Given the description of an element on the screen output the (x, y) to click on. 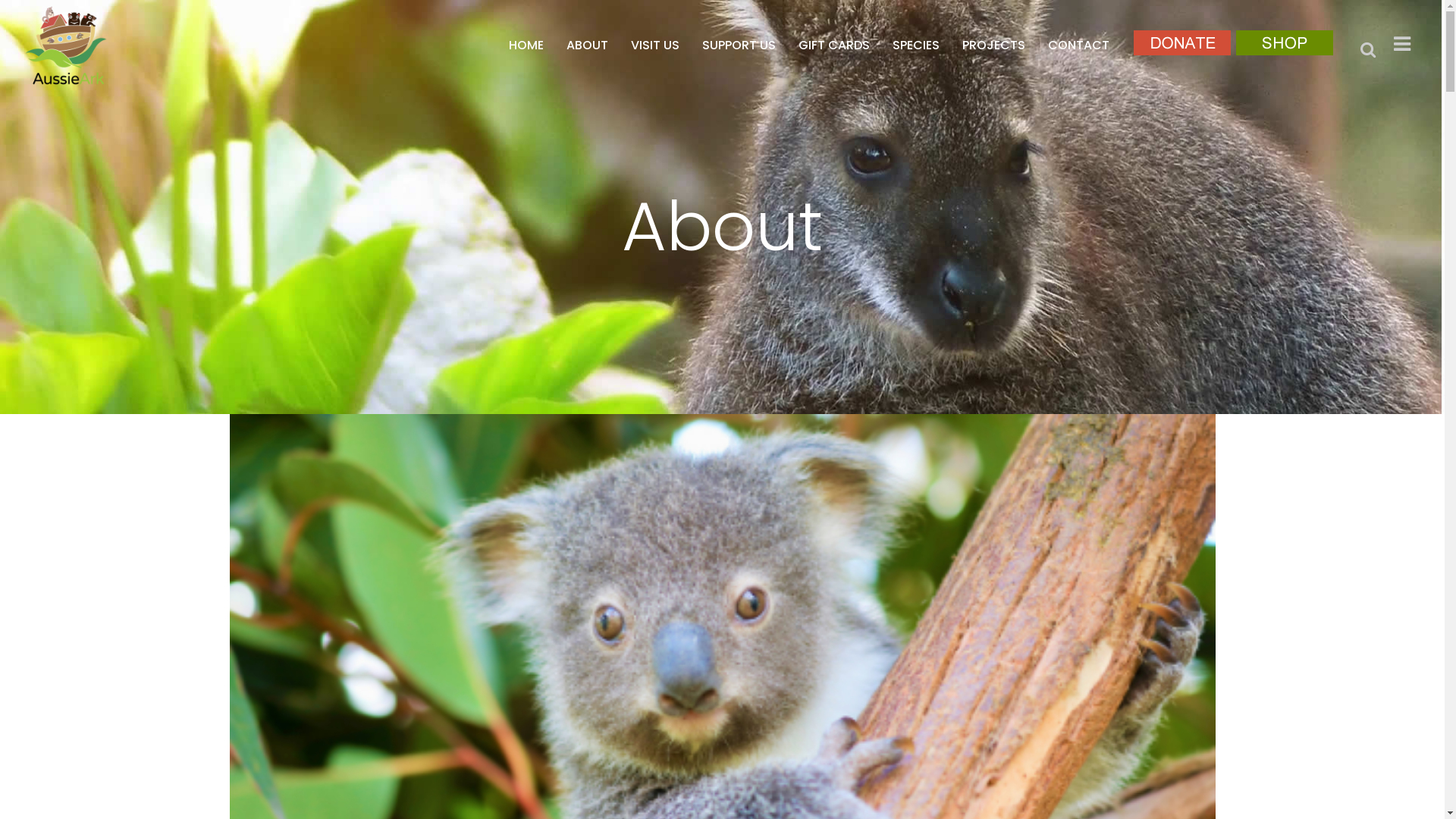
PROJECTS Element type: text (993, 45)
CONTACT Element type: text (1078, 45)
GIFT CARDS Element type: text (834, 45)
SUPPORT US Element type: text (738, 45)
ABOUT Element type: text (587, 45)
VISIT US Element type: text (654, 45)
SPECIES Element type: text (915, 45)
HOME Element type: text (526, 45)
